Given the description of an element on the screen output the (x, y) to click on. 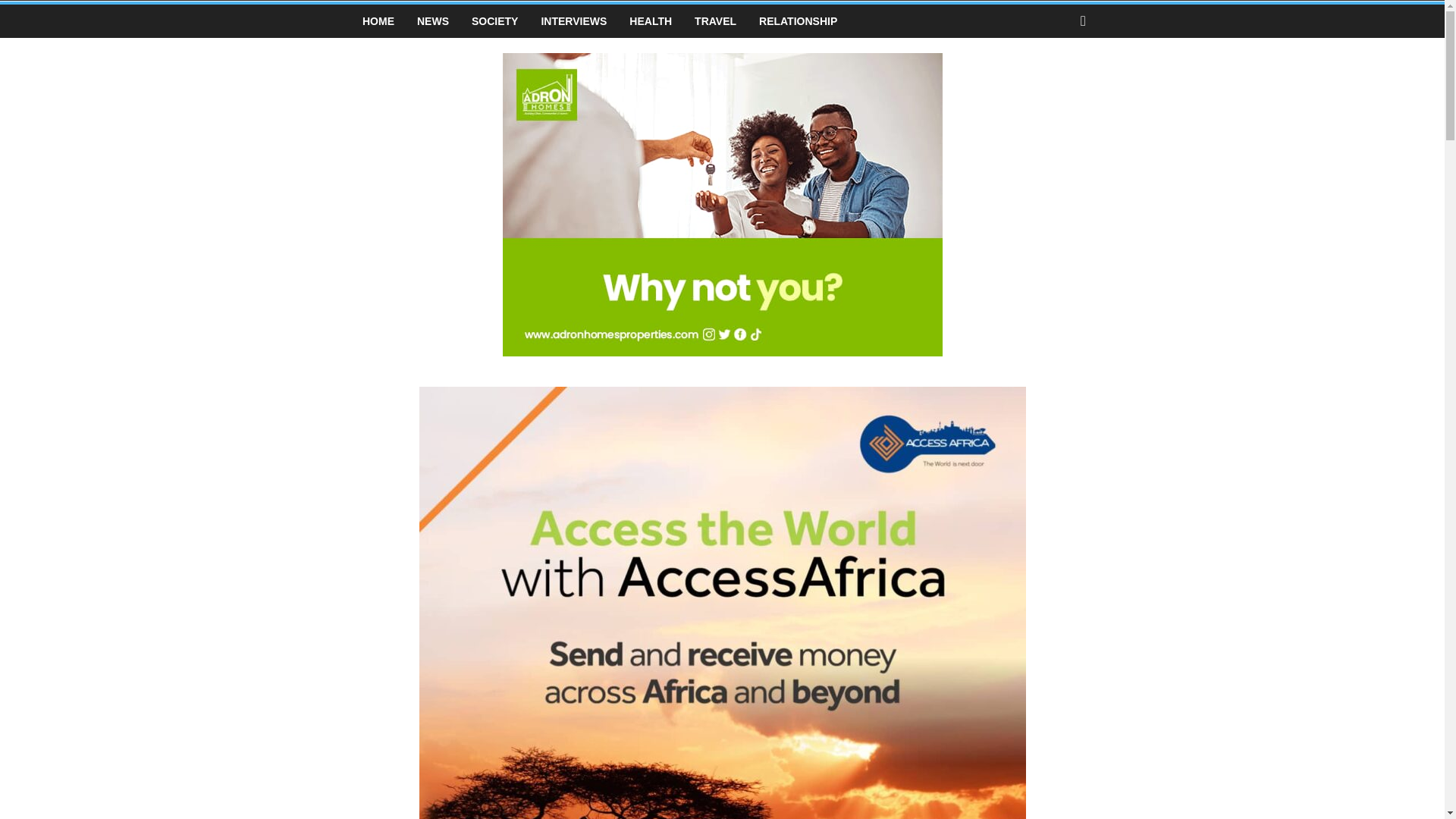
SOCIETY (494, 20)
NEWS (433, 20)
INTERVIEWS (573, 20)
HOME (378, 20)
TRAVEL (715, 20)
HEALTH (649, 20)
